Given the description of an element on the screen output the (x, y) to click on. 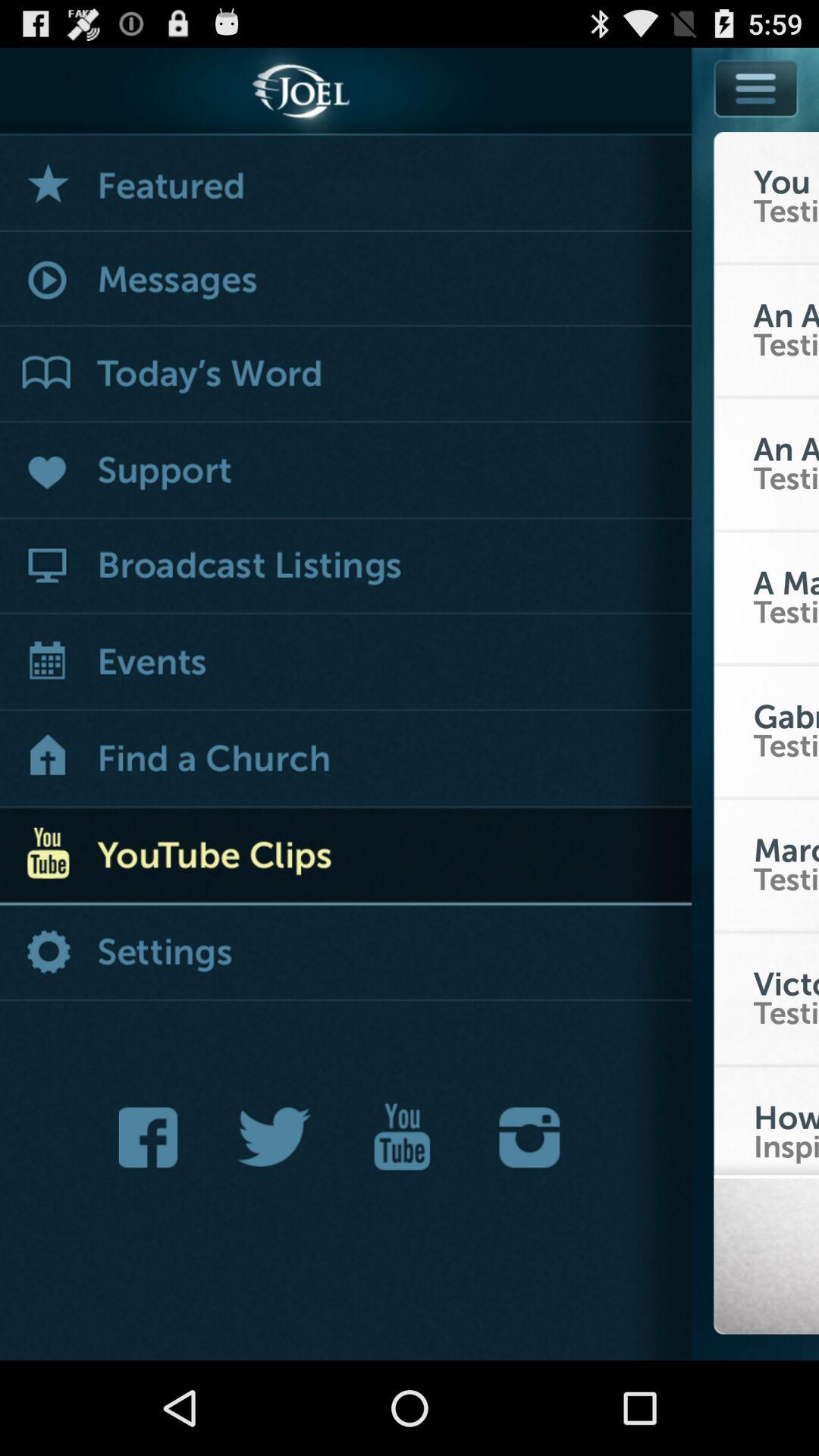
go to joel 's event schedule (345, 663)
